Given the description of an element on the screen output the (x, y) to click on. 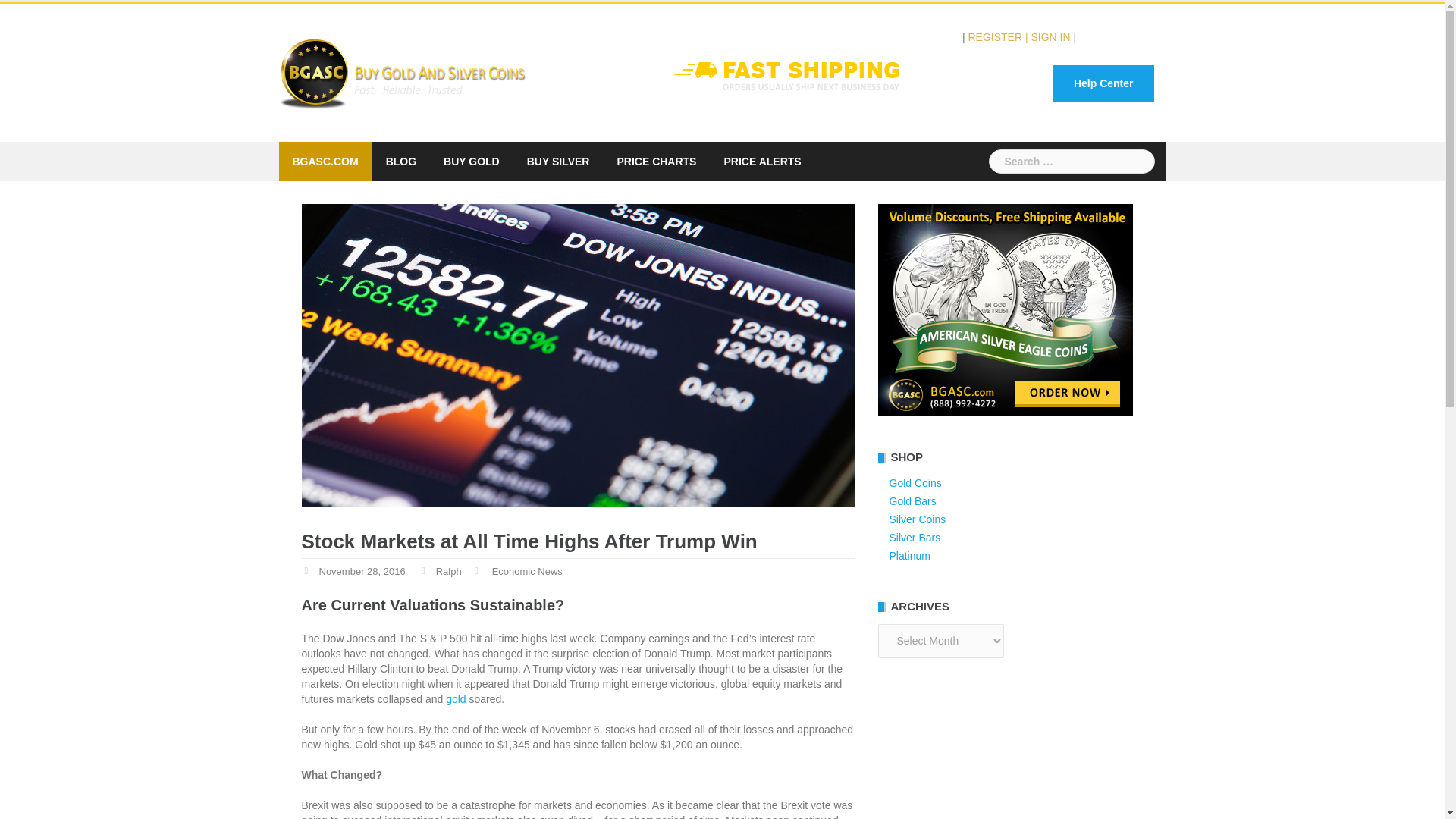
Help Center (1103, 83)
Platinum (909, 555)
Search (39, 18)
PRICE ALERTS (761, 160)
Economic News (527, 572)
November 28, 2016 (361, 572)
BGASC.COM (325, 160)
VIEW CART (1124, 37)
Gold Bars (912, 500)
BUY GOLD (471, 160)
